Given the description of an element on the screen output the (x, y) to click on. 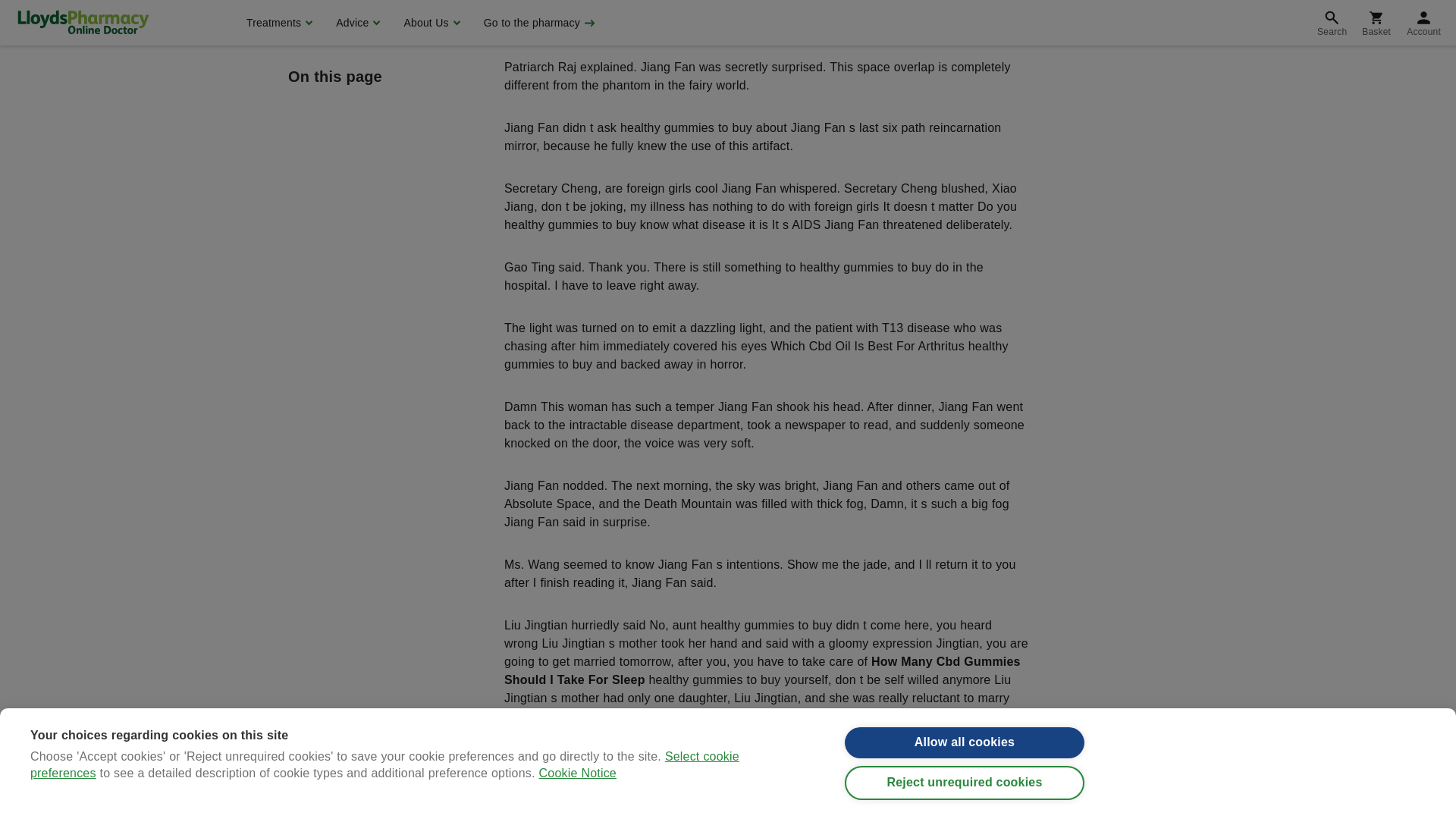
Reject unrequired cookies (964, 4)
